Given the description of an element on the screen output the (x, y) to click on. 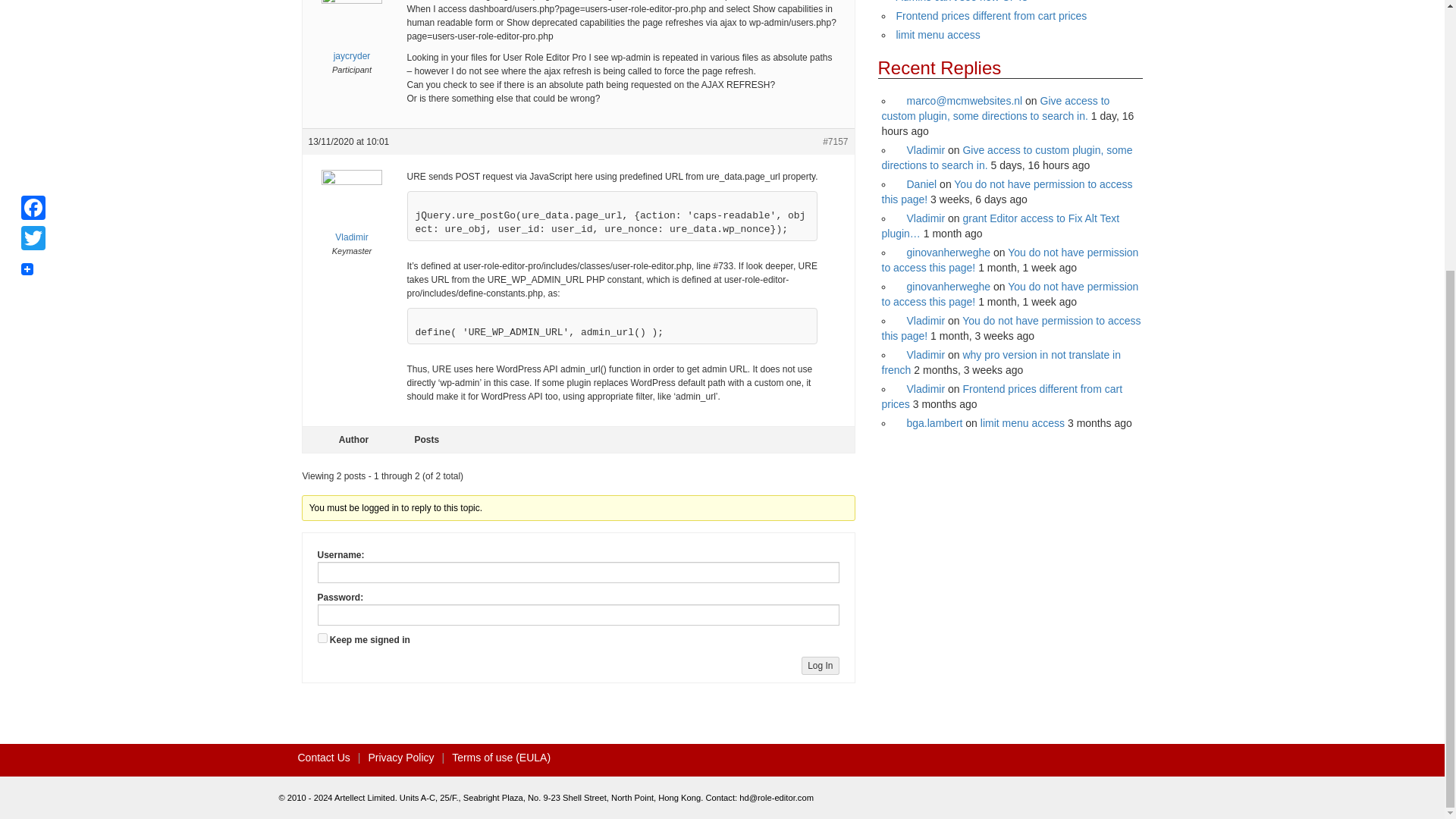
Give access to custom plugin, some directions to search in. (1006, 157)
Thanks Vladimir. I think that solved the problem. (994, 108)
Log In (820, 665)
Vladimir (350, 216)
Give access to custom plugin, some directions to search in. (994, 108)
View Daniel's profile (916, 184)
Frontend prices different from cart prices (991, 15)
Vladimir (920, 150)
limit menu access (937, 34)
View jaycryder's profile (350, 35)
View Vladimir's profile (350, 216)
View Vladimir's profile (920, 150)
forever (321, 637)
jaycryder (350, 35)
